Given the description of an element on the screen output the (x, y) to click on. 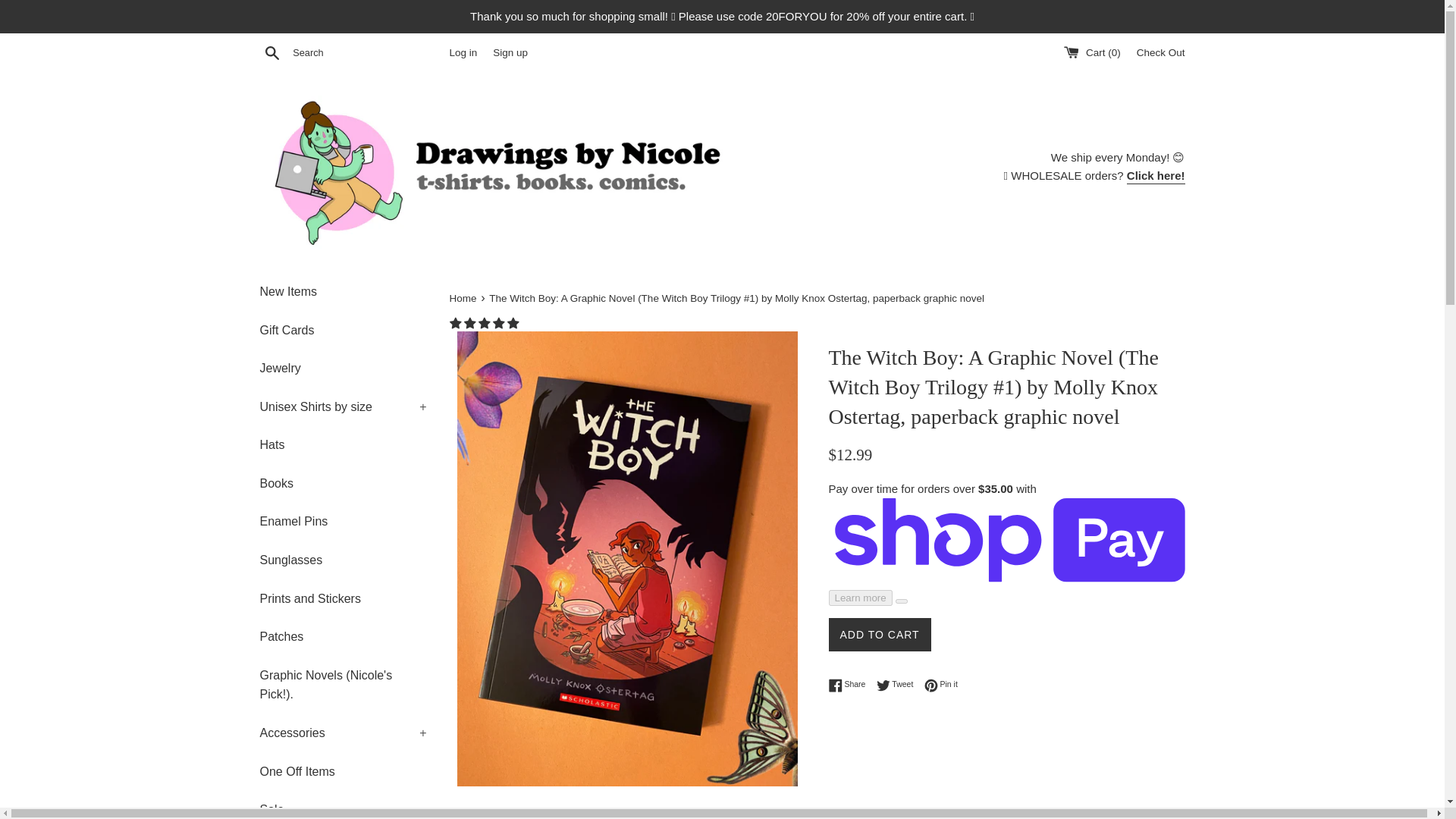
Prints and Stickers (342, 598)
Share on Facebook (850, 684)
Sunglasses (342, 560)
Sale (342, 805)
Back to the frontpage (463, 297)
Patches (342, 637)
Enamel Pins (342, 521)
One Off Items (342, 771)
Books (342, 483)
Gift Cards (342, 329)
